Given the description of an element on the screen output the (x, y) to click on. 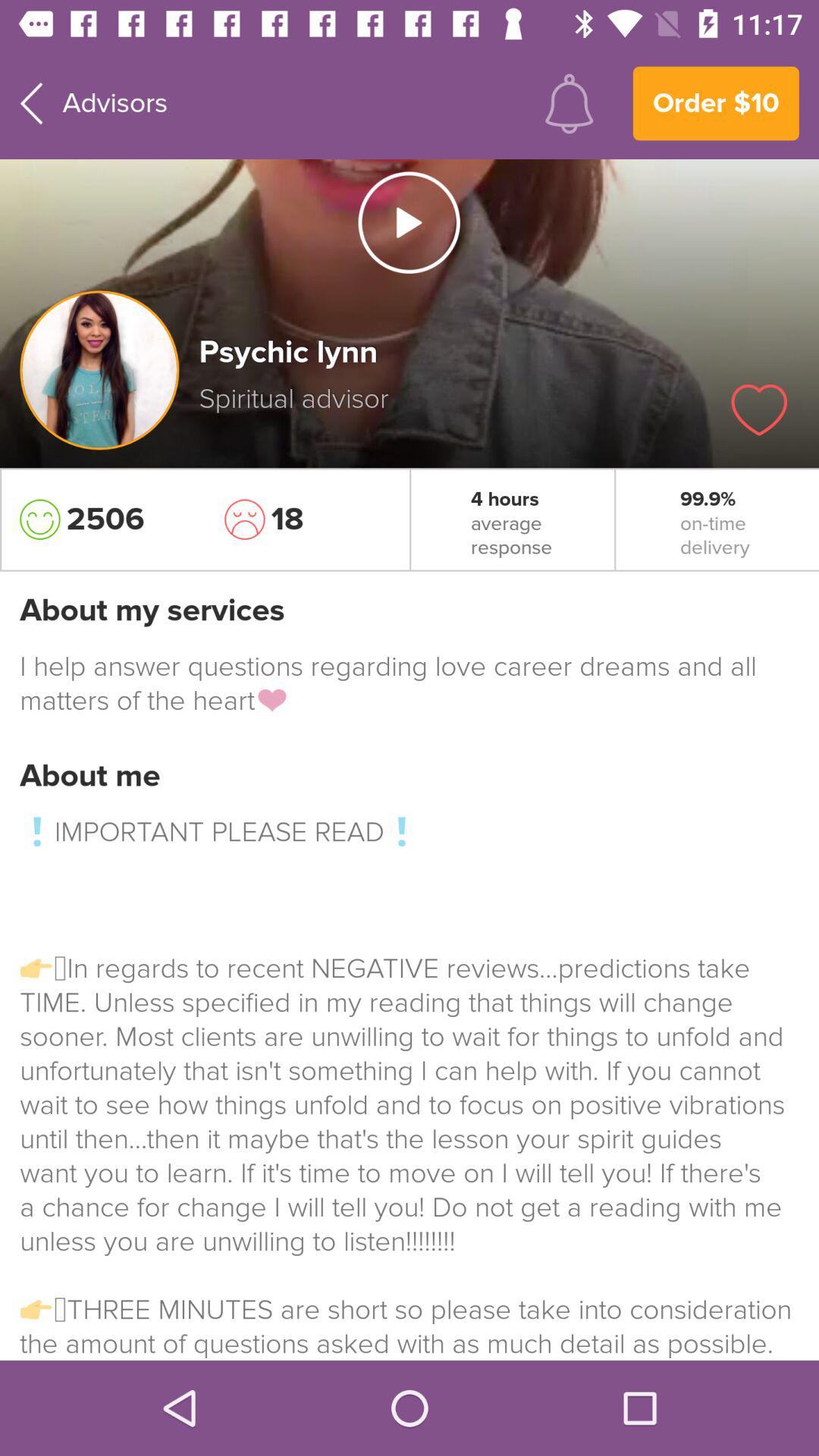
turn off the 18 icon (306, 519)
